Given the description of an element on the screen output the (x, y) to click on. 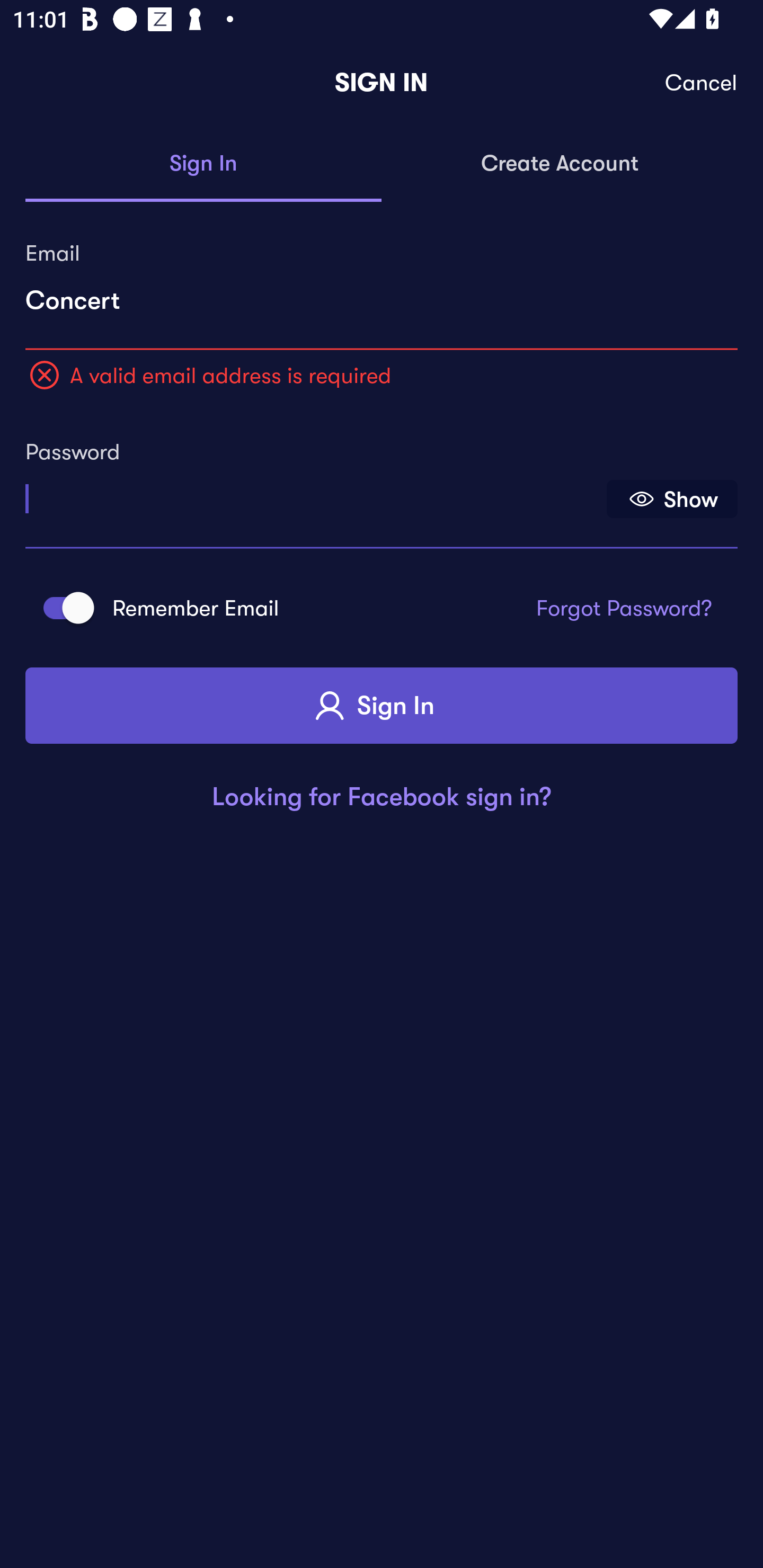
Cancel (701, 82)
Sign In (203, 164)
Create Account (559, 164)
Password (314, 493)
Show Password Show (671, 498)
Remember Email (62, 607)
Sign In (381, 705)
